Given the description of an element on the screen output the (x, y) to click on. 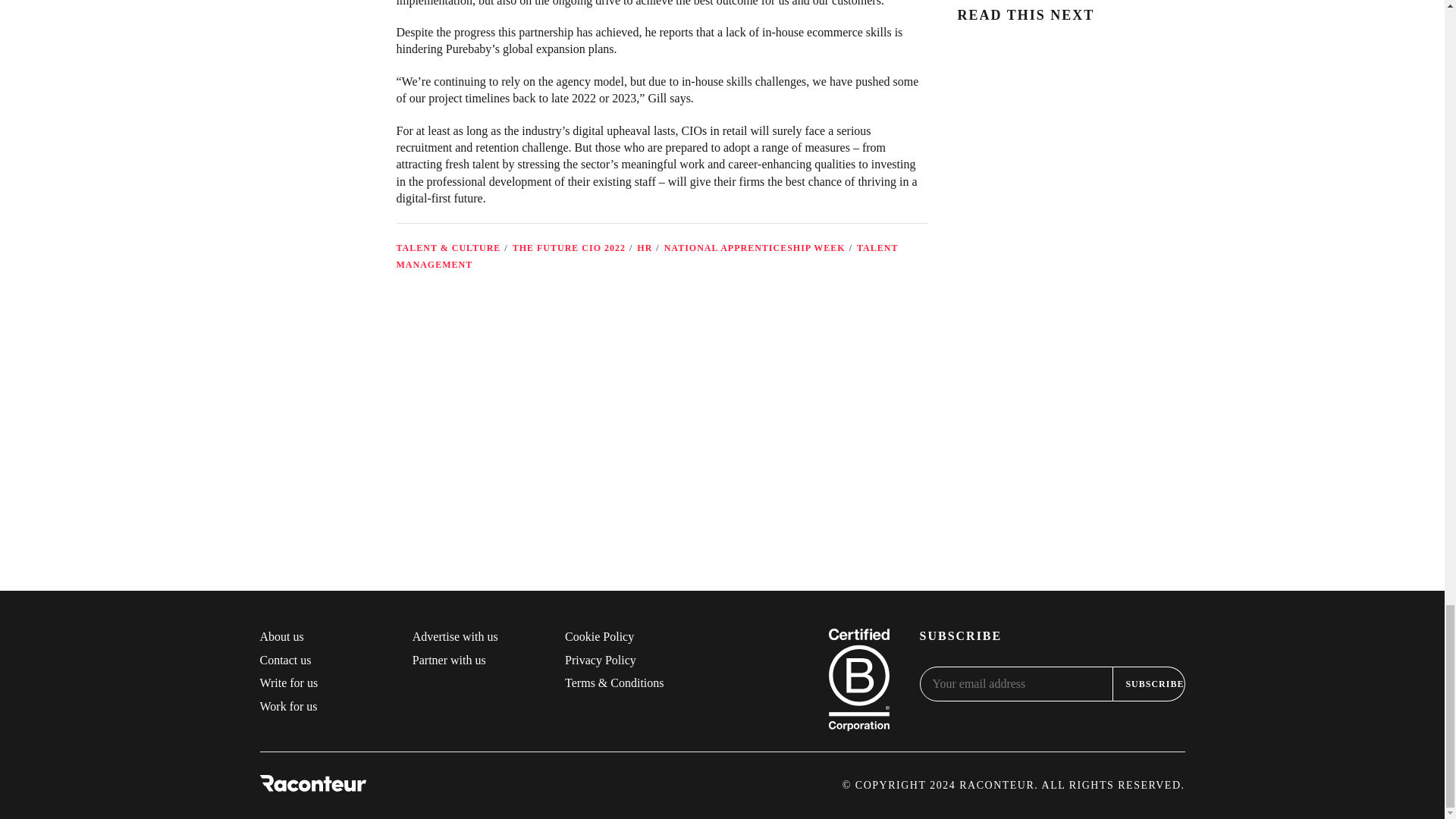
HR (644, 247)
About us (280, 635)
Write for us (288, 682)
THE FUTURE CIO 2022 (569, 247)
Subscribe (1149, 683)
Subscribe (867, 492)
Contact us (285, 659)
Work for us (288, 706)
Subscribe (1149, 683)
NATIONAL APPRENTICESHIP WEEK (754, 247)
